Given the description of an element on the screen output the (x, y) to click on. 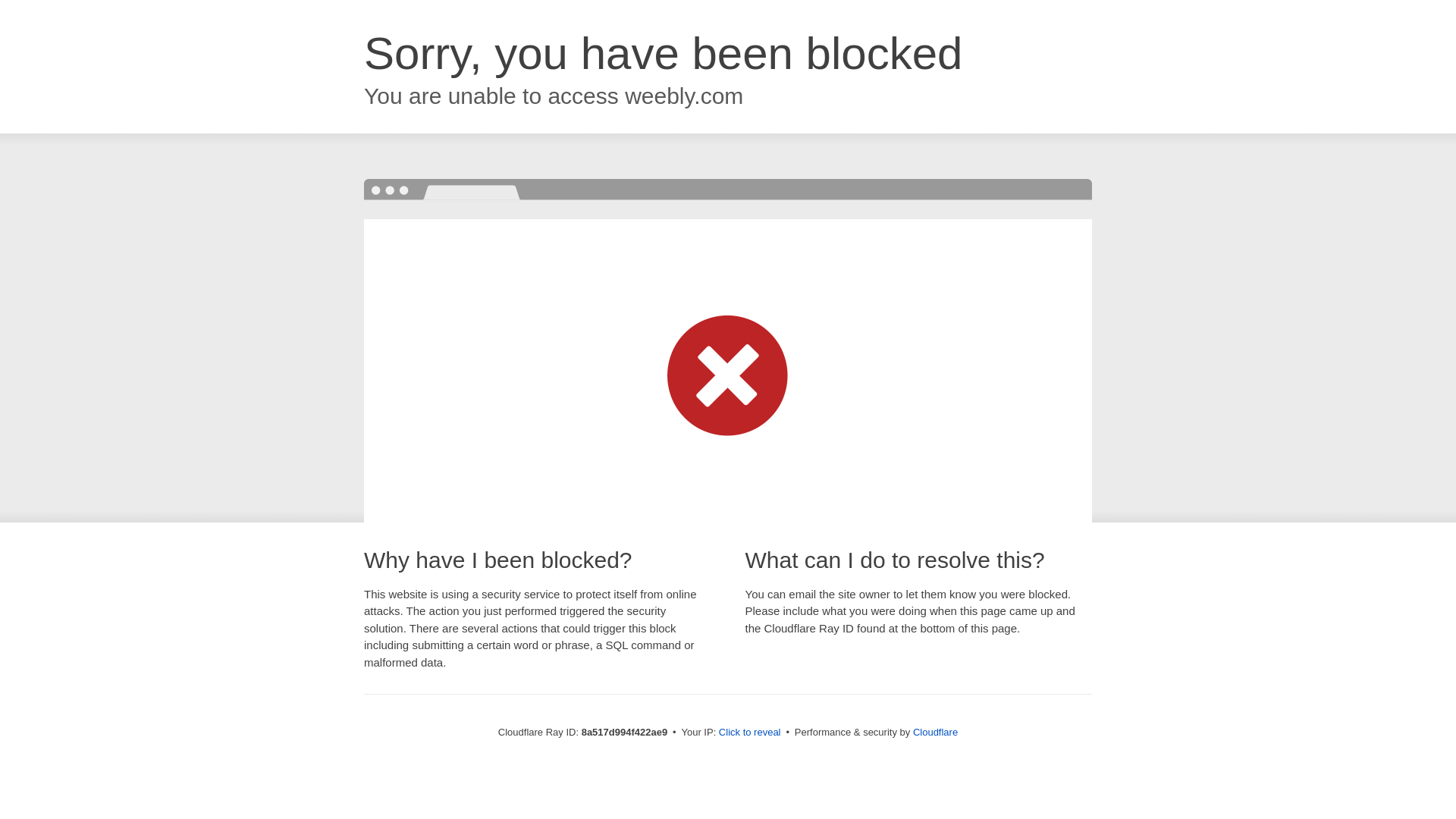
Click to reveal (749, 732)
Cloudflare (935, 731)
